Given the description of an element on the screen output the (x, y) to click on. 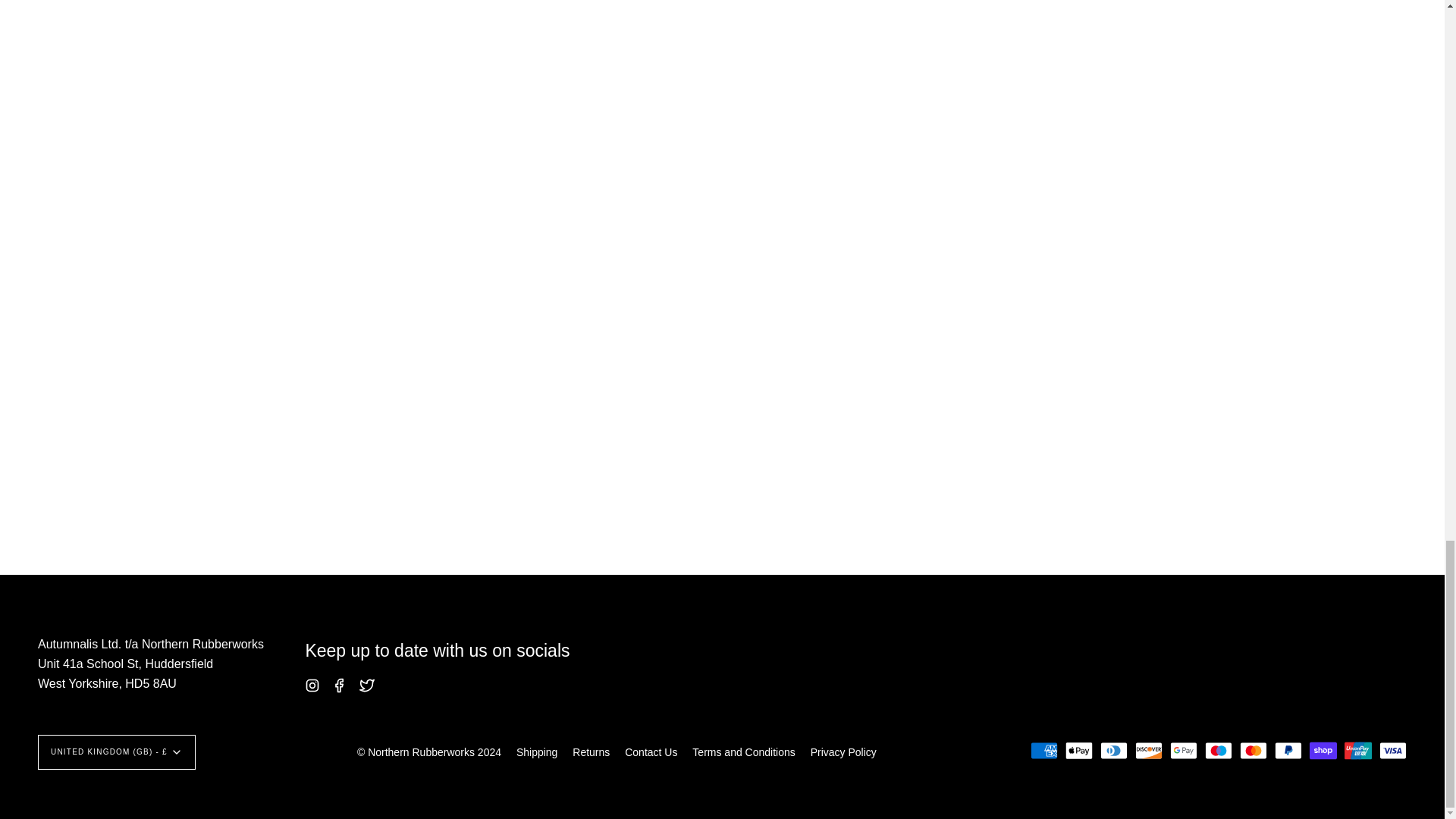
Google Pay (1183, 751)
Apple Pay (1079, 751)
Mastercard (1253, 751)
Diners Club (1113, 751)
Shop Pay (1322, 751)
Northern Rubberworks on Facebook (339, 684)
PayPal (1288, 751)
Visa (1392, 751)
Discover (1148, 751)
Union Pay (1357, 751)
